Given the description of an element on the screen output the (x, y) to click on. 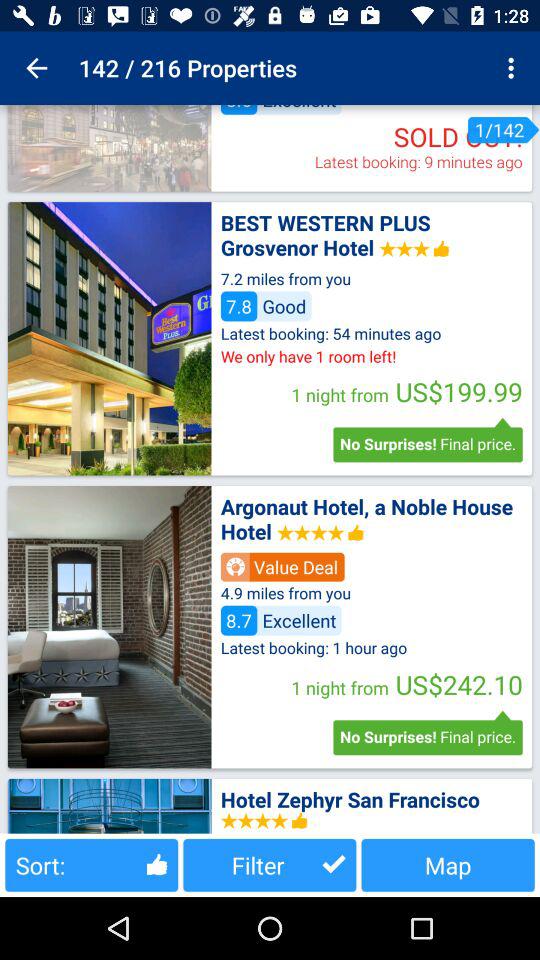
view photos (109, 627)
